Given the description of an element on the screen output the (x, y) to click on. 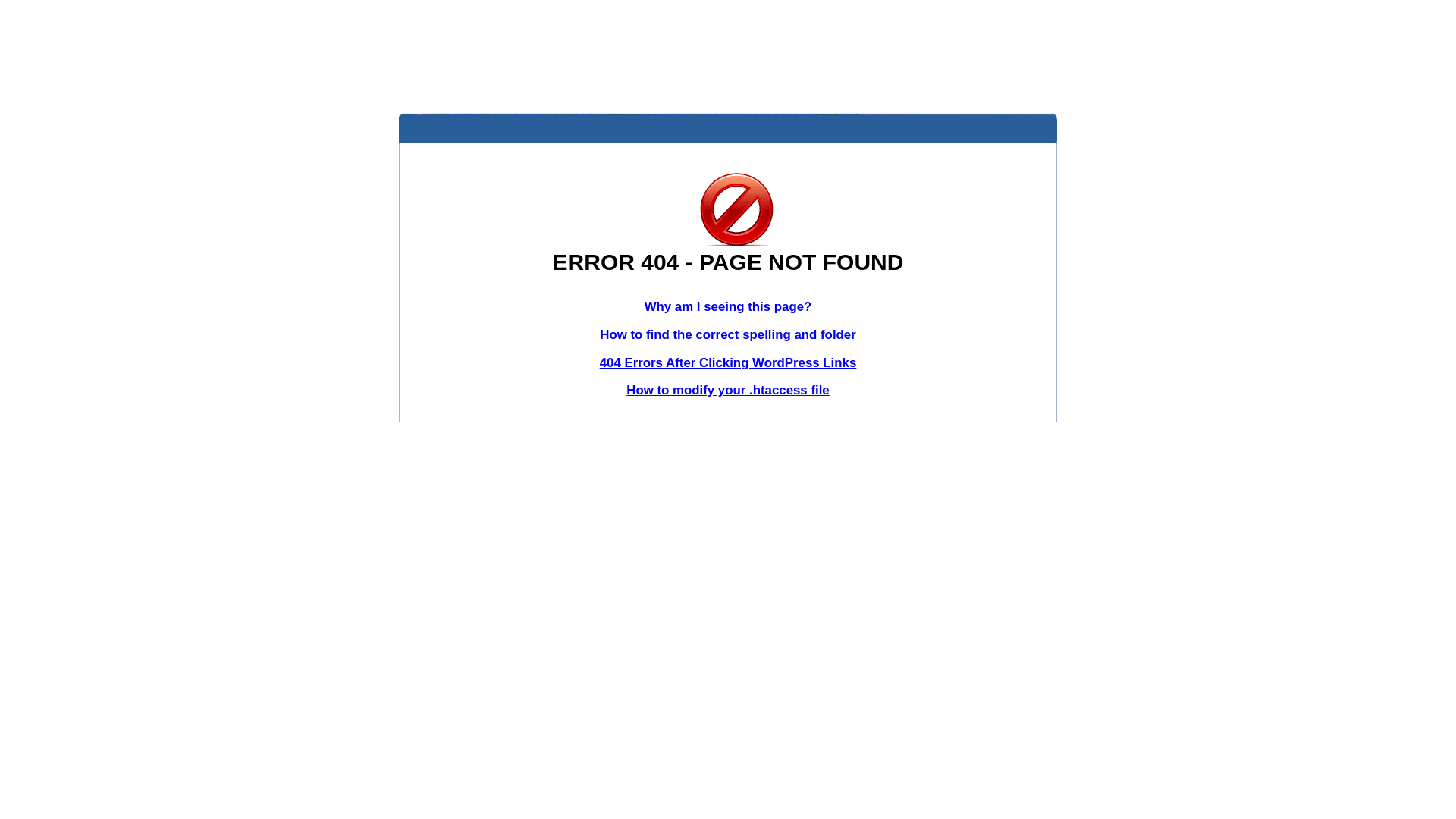
How to modify your .htaccess file Element type: text (727, 389)
How to find the correct spelling and folder Element type: text (727, 334)
404 Errors After Clicking WordPress Links Element type: text (727, 362)
Why am I seeing this page? Element type: text (728, 306)
